Given the description of an element on the screen output the (x, y) to click on. 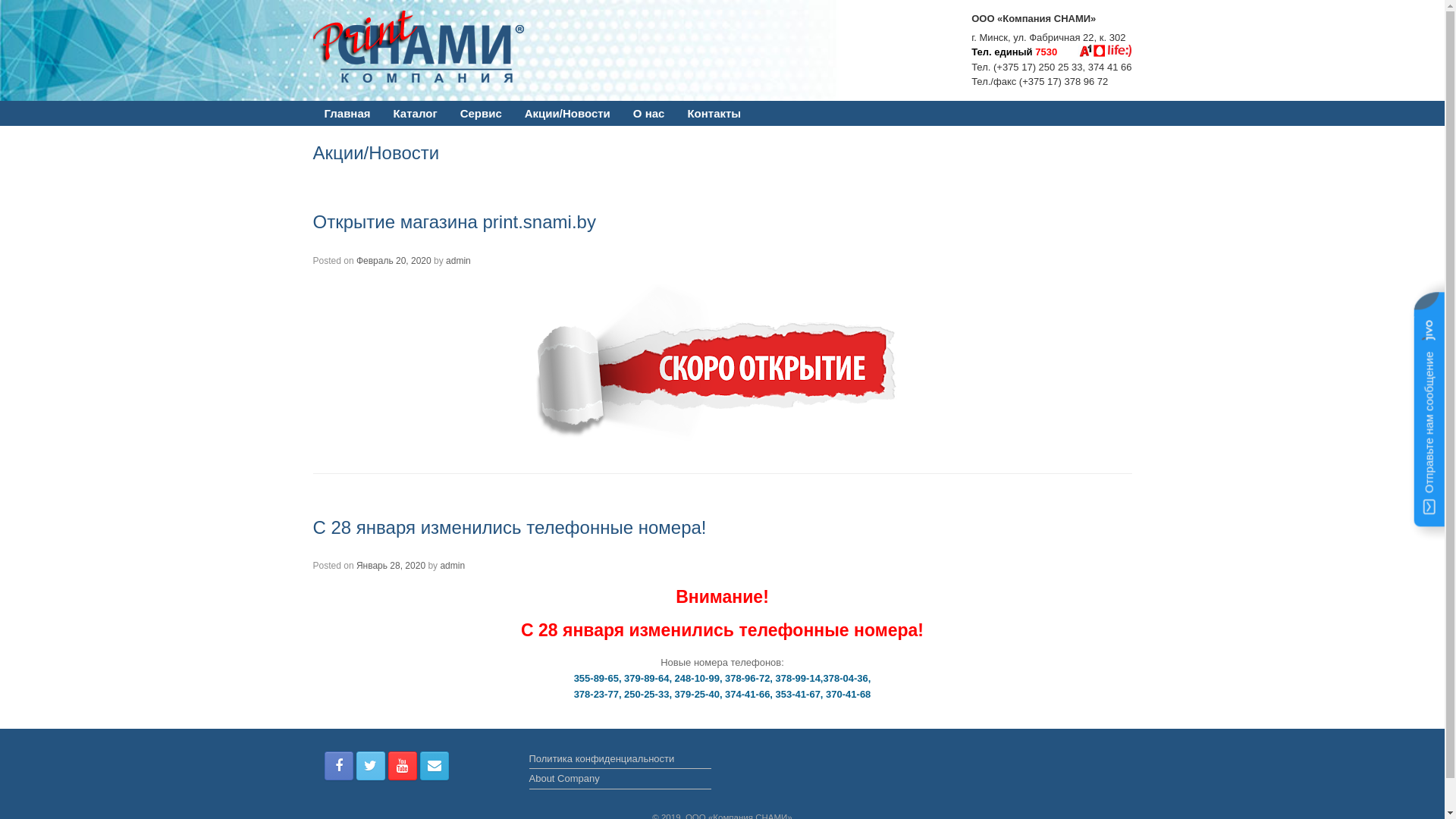
admin Element type: text (457, 260)
About Company Element type: text (620, 780)
Print Snami Twitter Element type: hover (370, 765)
Print Snami Element type: hover (427, 46)
Print Snami Facebook Element type: hover (338, 765)
Print Snami YouTube Element type: hover (402, 765)
admin Element type: text (451, 565)
Print Snami Email Element type: hover (434, 765)
